Given the description of an element on the screen output the (x, y) to click on. 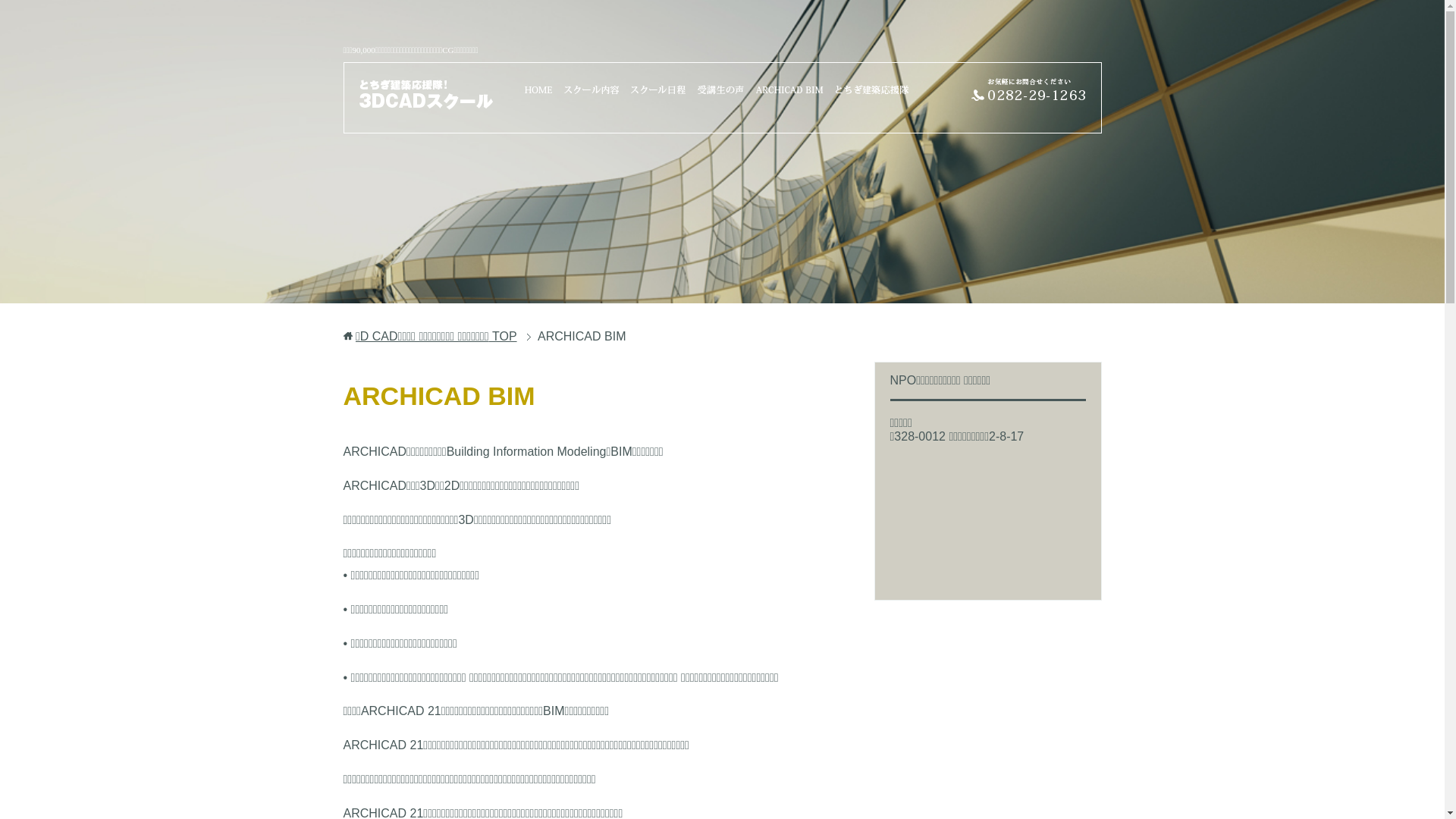
ARCHICAD BIM Element type: hover (789, 89)
HOME Element type: hover (538, 89)
